Given the description of an element on the screen output the (x, y) to click on. 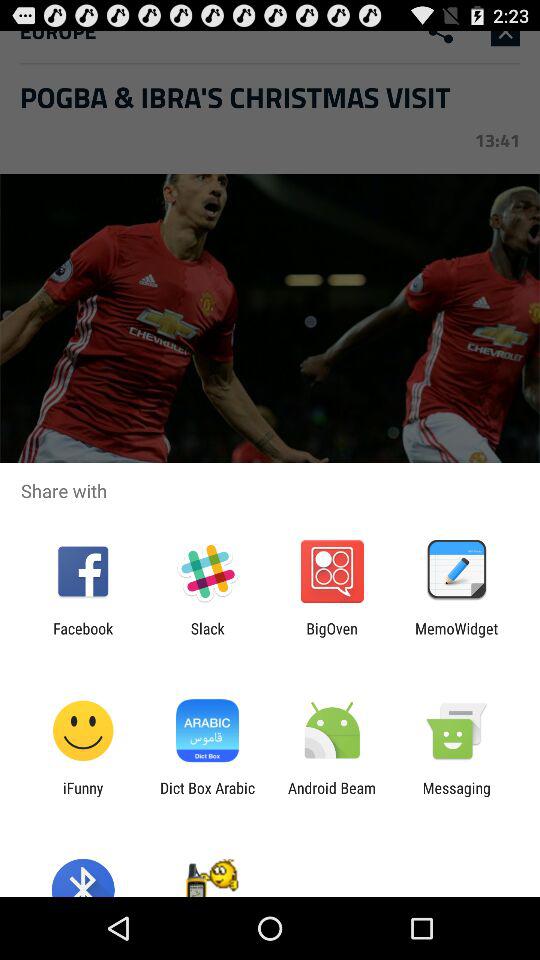
tap the bigoven (331, 637)
